Given the description of an element on the screen output the (x, y) to click on. 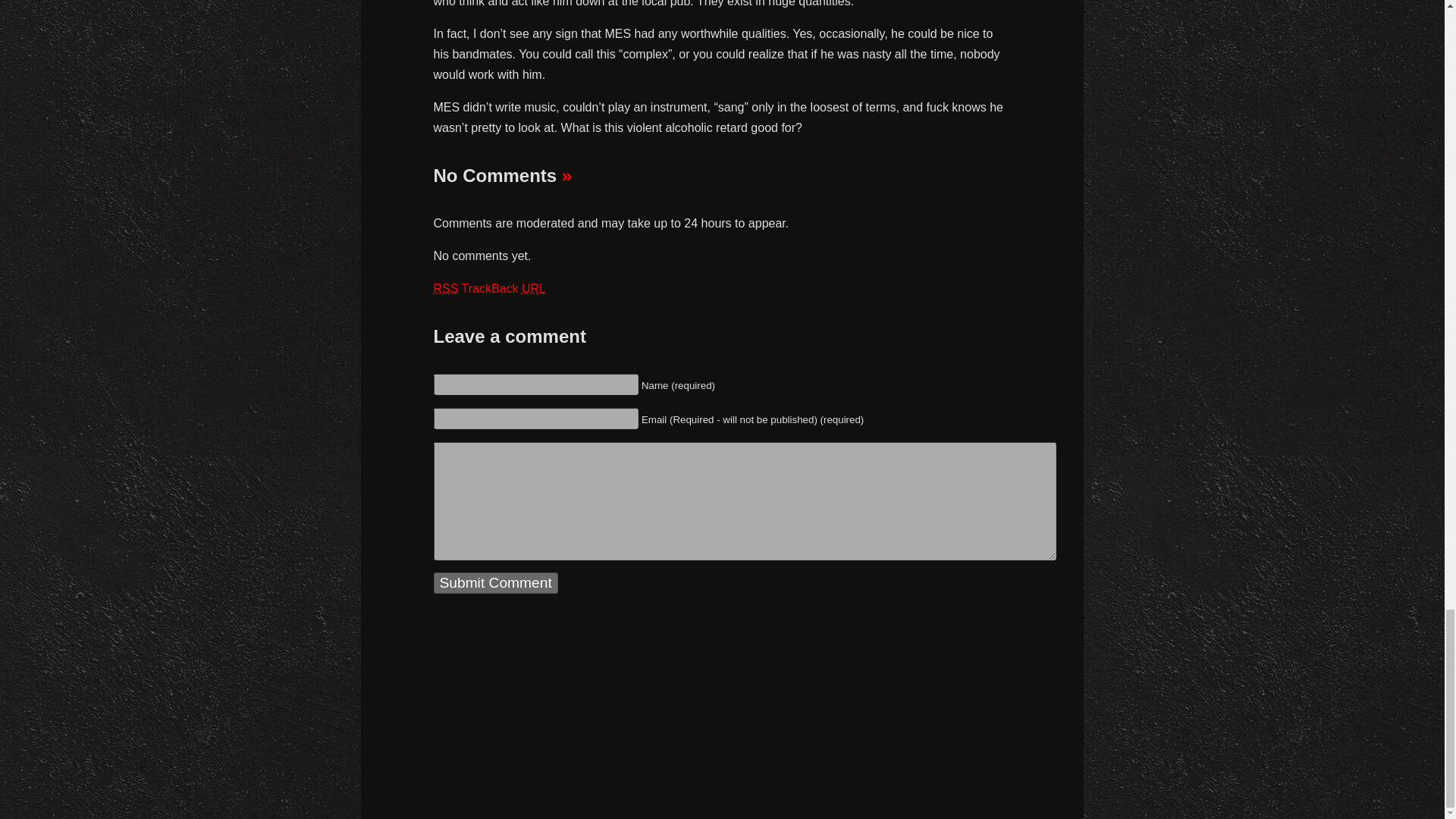
Submit Comment (495, 582)
Leave a comment (567, 175)
Submit Comment (495, 582)
Really Simple Syndication (445, 287)
RSS (445, 287)
Universal Resource Locator (533, 287)
TrackBack URL (503, 287)
